Given the description of an element on the screen output the (x, y) to click on. 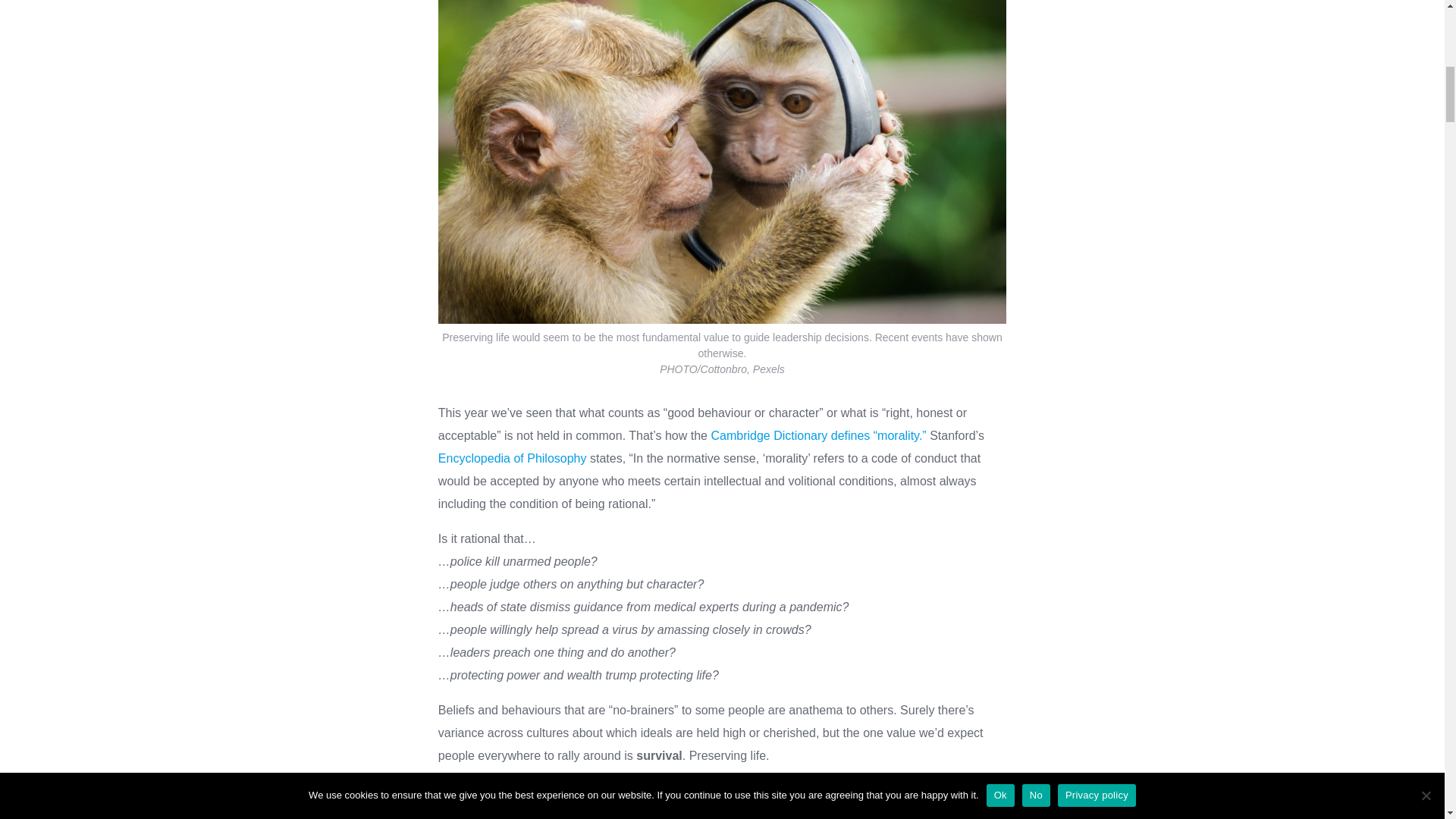
Encyclopedia of Philosophy (512, 458)
